Given the description of an element on the screen output the (x, y) to click on. 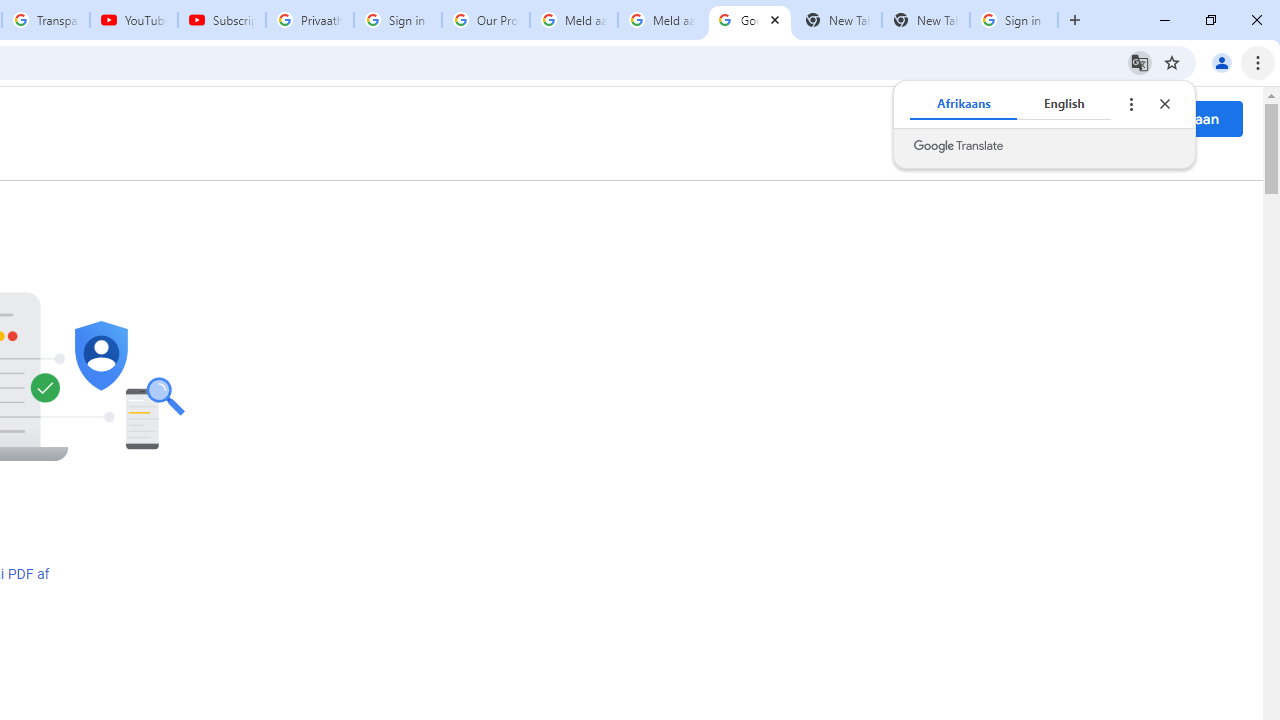
Meld aan (1188, 118)
Sign in - Google Accounts (1014, 20)
Translate options (1130, 103)
Afrikaans (963, 103)
Google-programme (1101, 118)
Subscriptions - YouTube (221, 20)
